Given the description of an element on the screen output the (x, y) to click on. 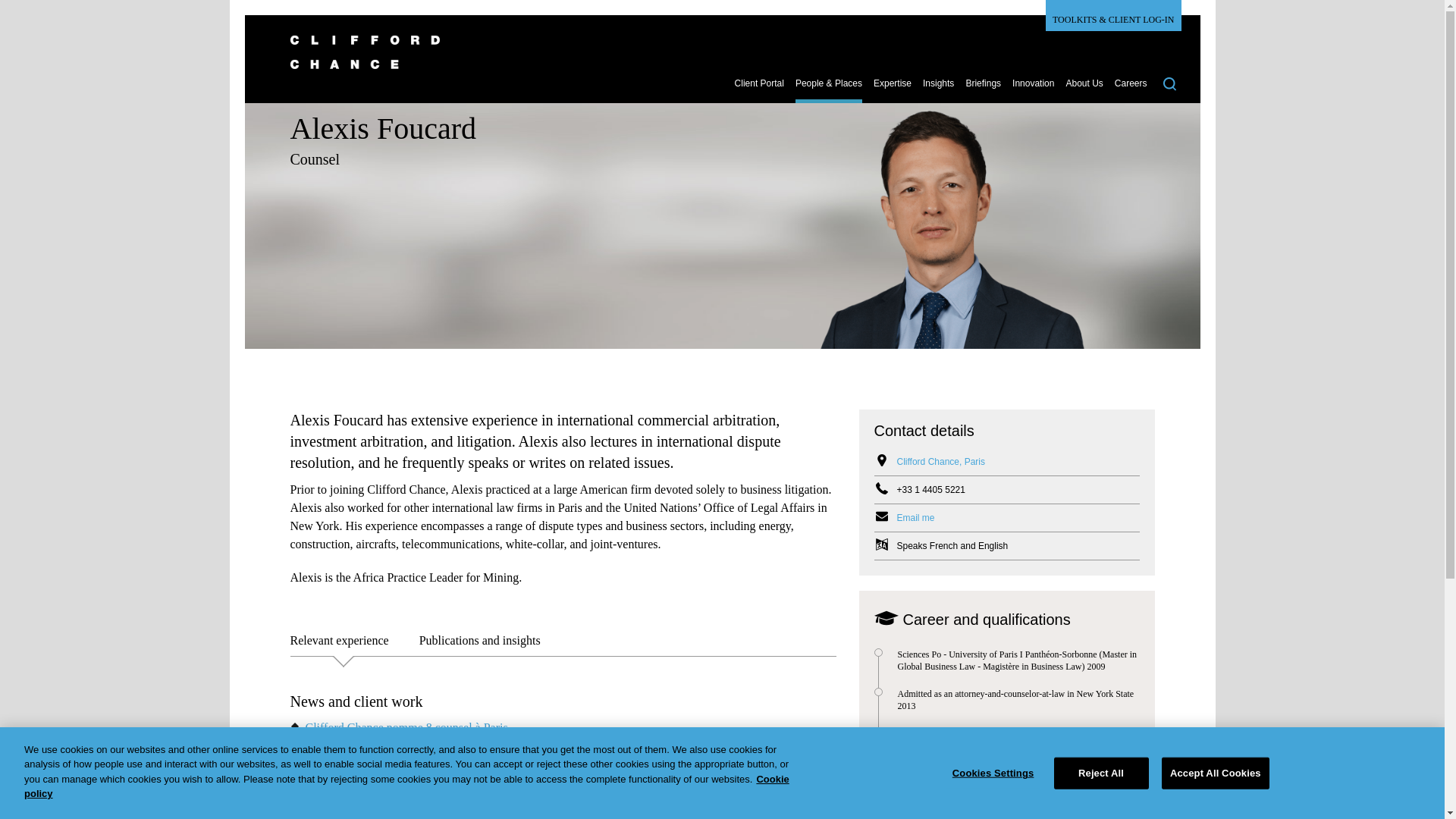
Go to Clifford Chance, Paris office page (940, 461)
Client Portal (759, 89)
Clifford Chance (713, 60)
